Given the description of an element on the screen output the (x, y) to click on. 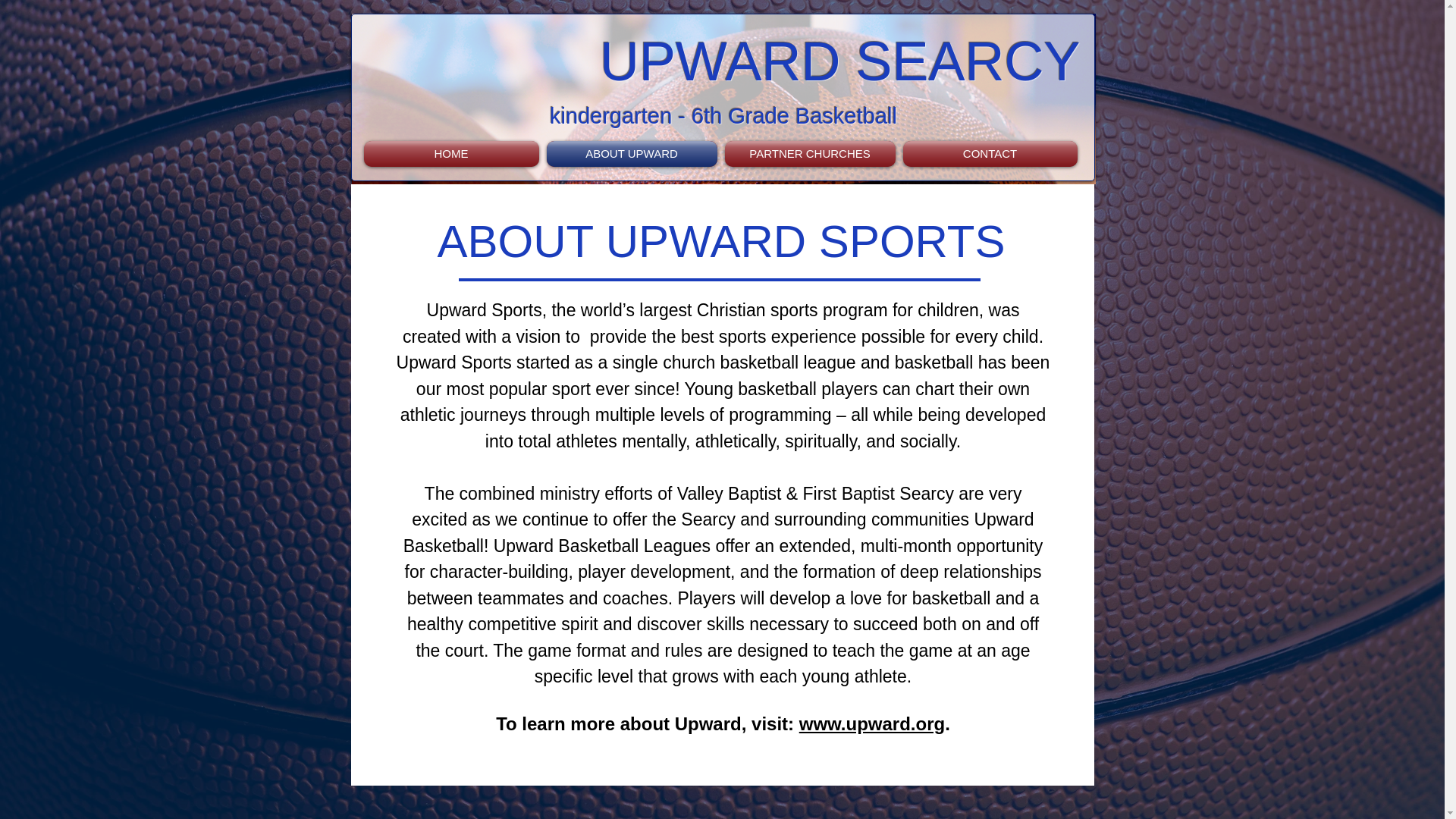
PARTNER CHURCHES (809, 153)
ABOUT UPWARD (631, 153)
HOME (453, 153)
www.upward.org (871, 722)
CONTACT (988, 153)
